Given the description of an element on the screen output the (x, y) to click on. 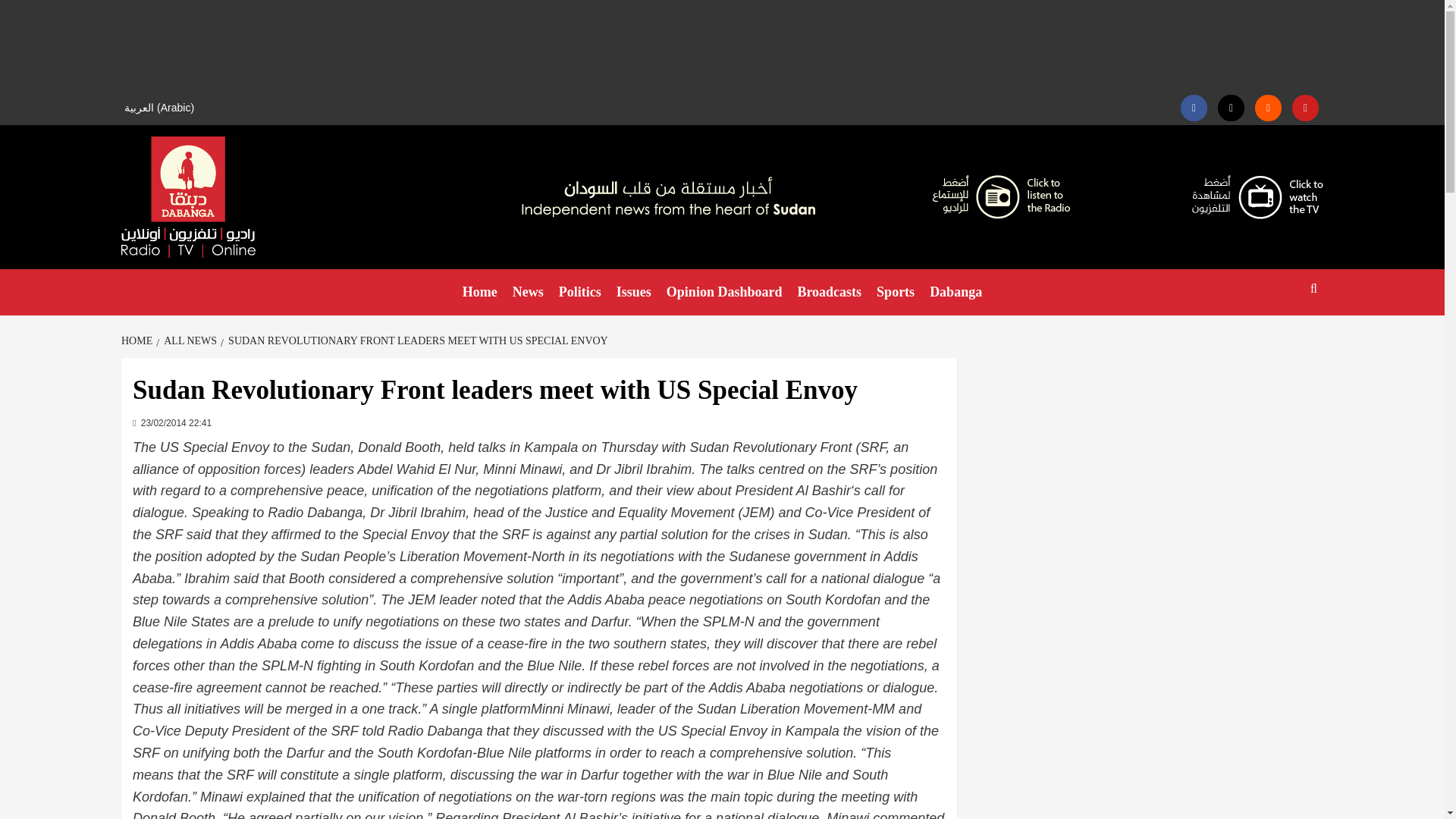
Soundcloud (1268, 108)
Youtube (1305, 108)
Twitter (1230, 108)
Dabanga (955, 292)
Sports (895, 292)
Home (479, 292)
Arabic (161, 107)
Facebook (1193, 108)
Opinion Dashboard (724, 292)
News (528, 292)
Politics (579, 292)
Issues (633, 292)
Broadcasts (829, 292)
